Given the description of an element on the screen output the (x, y) to click on. 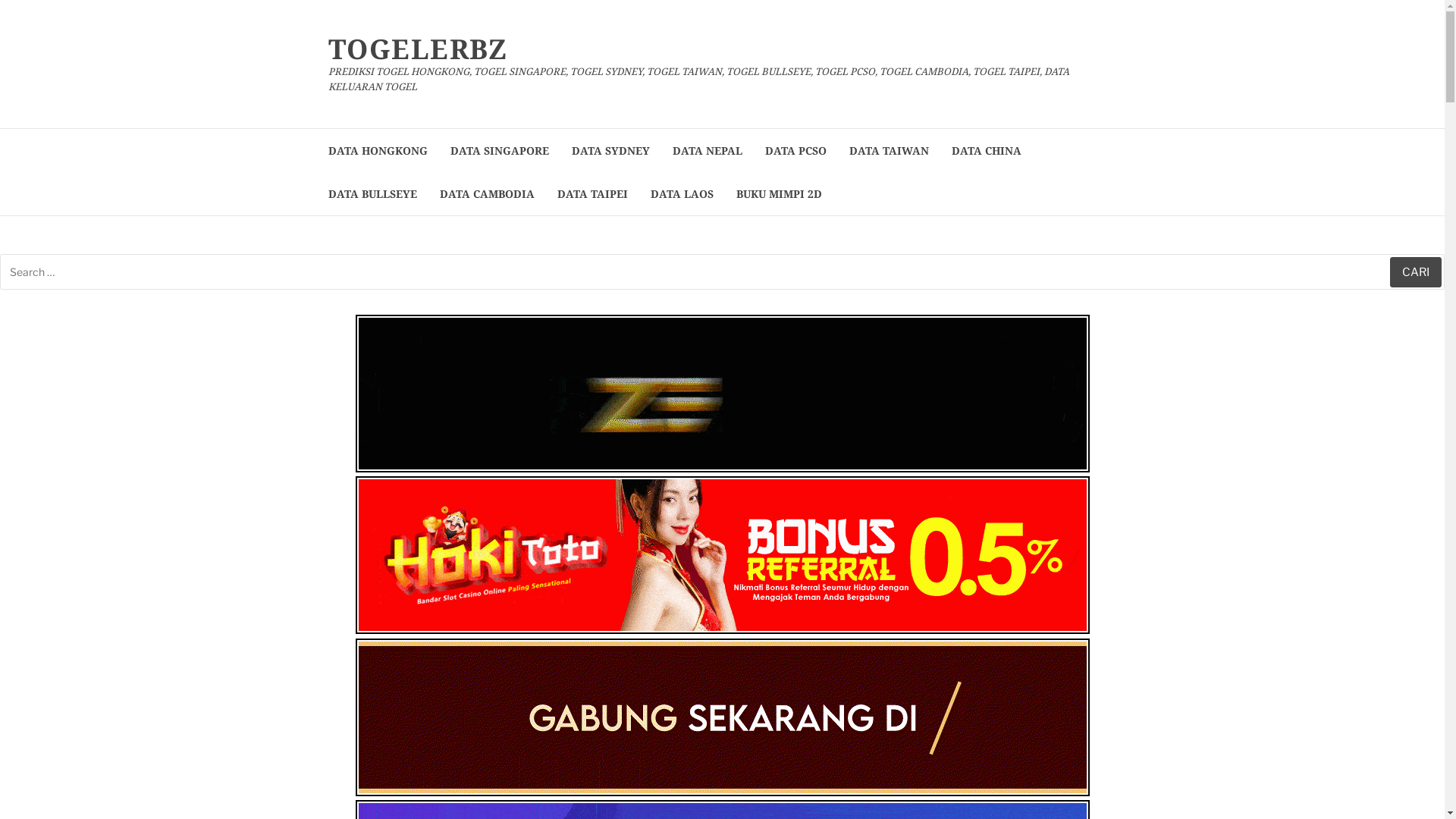
DATA HONGKONG Element type: text (376, 150)
Cari Element type: text (1415, 272)
DATA LAOS Element type: text (681, 193)
BUKU MIMPI 2D Element type: text (778, 193)
DATA TAIPEI Element type: text (591, 193)
Lompat ke konten Element type: text (0, 0)
DATA CHINA Element type: text (985, 150)
Cari untuk: Element type: hover (722, 271)
TOGELERBZ Element type: text (417, 48)
DATA SINGAPORE Element type: text (499, 150)
DATA PCSO Element type: text (794, 150)
DATA BULLSEYE Element type: text (371, 193)
DATA TAIWAN Element type: text (888, 150)
DATA SYDNEY Element type: text (610, 150)
DATA CAMBODIA Element type: text (486, 193)
DATA NEPAL Element type: text (706, 150)
